Given the description of an element on the screen output the (x, y) to click on. 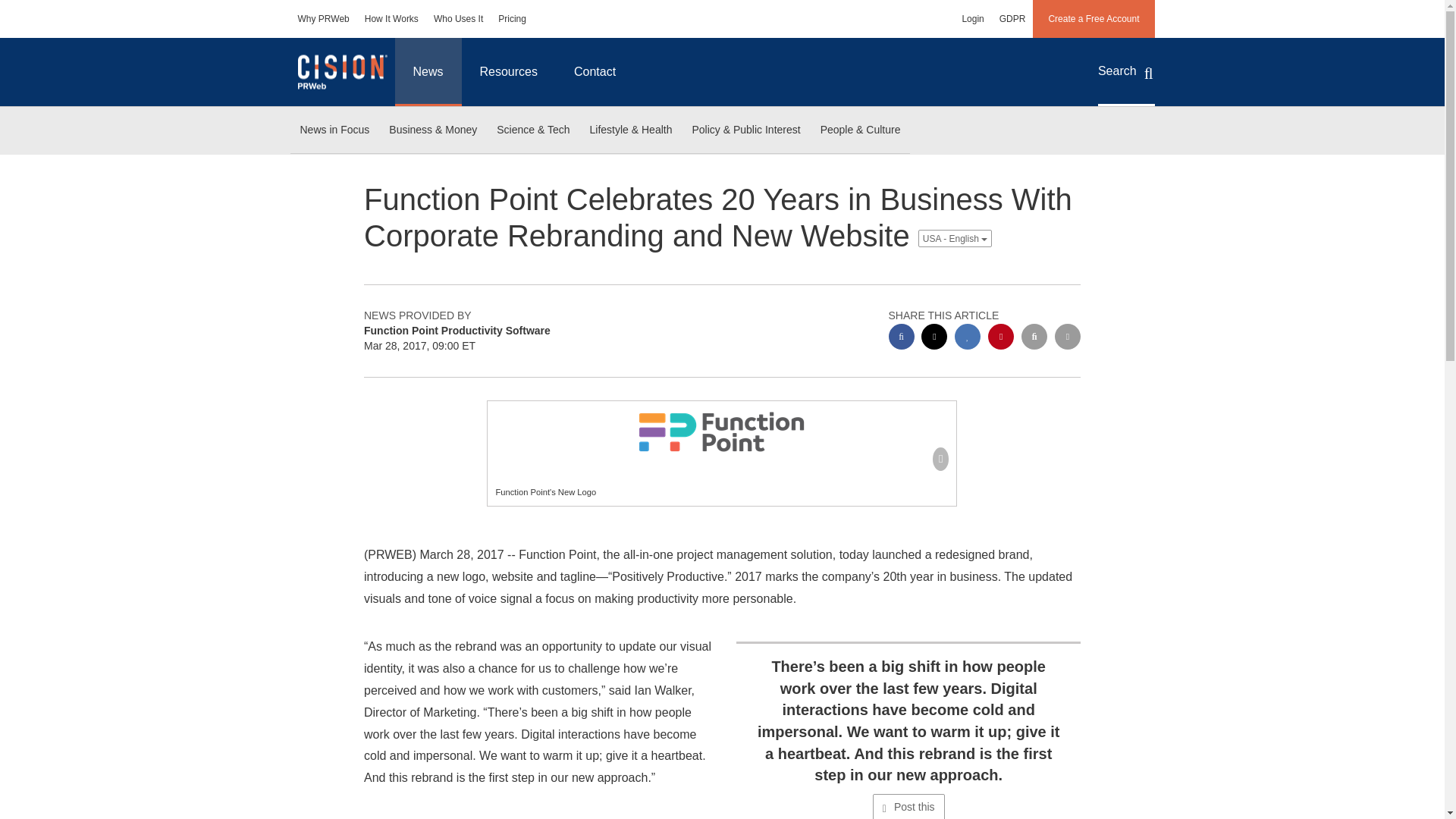
Function Point's New Logo (721, 432)
News in Focus (333, 130)
